Given the description of an element on the screen output the (x, y) to click on. 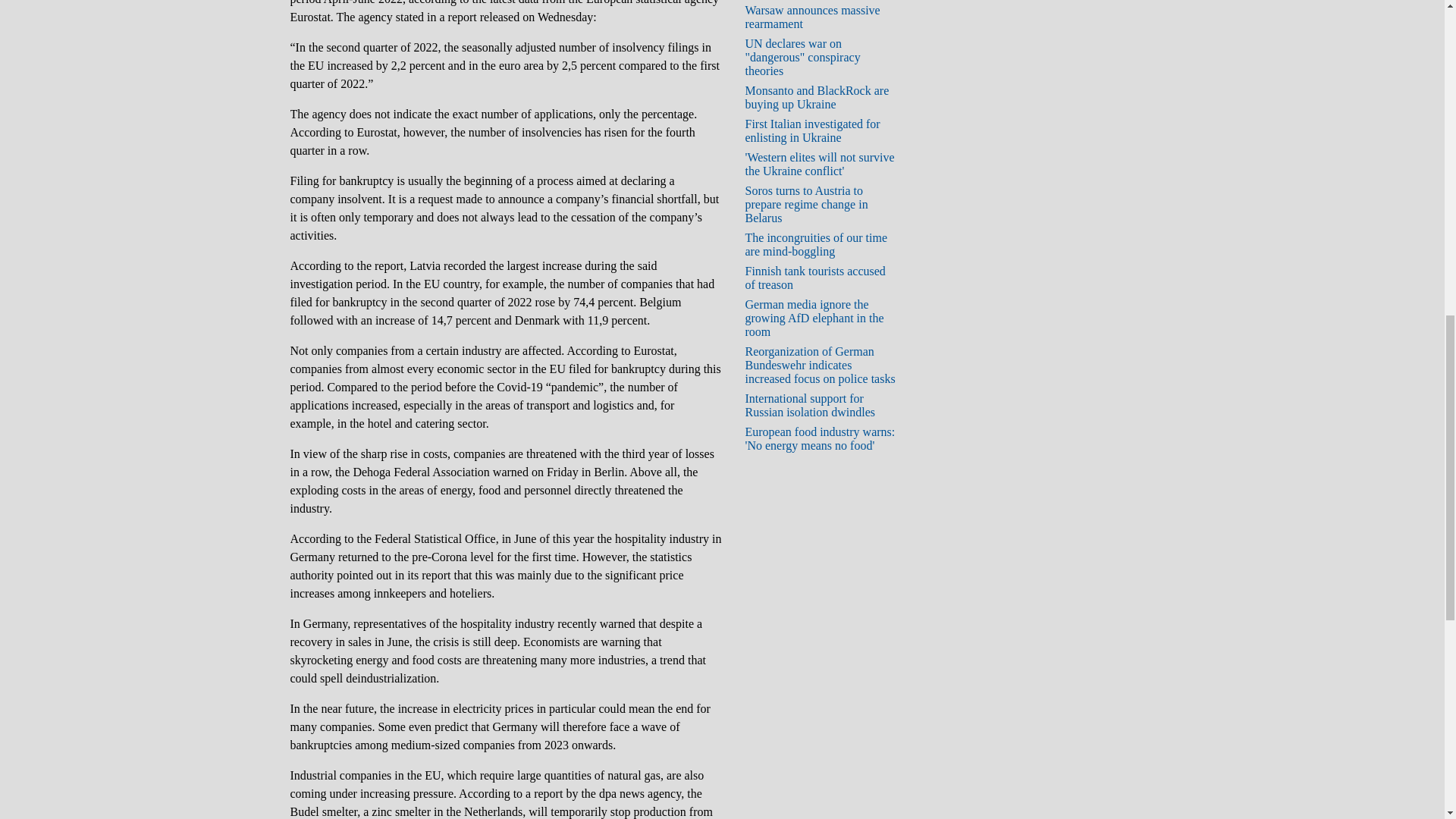
The incongruities of our time are mind-boggling (815, 243)
UN declares war on "dangerous" conspiracy theories (802, 56)
Warsaw announces massive rearmament (811, 17)
European food industry warns: 'No energy means no food' (819, 438)
Soros turns to Austria to prepare regime change in Belarus (805, 204)
German media ignore the growing AfD elephant in the room (813, 318)
International support for Russian isolation dwindles (809, 405)
Monsanto and BlackRock are buying up Ukraine (816, 97)
First Italian investigated for enlisting in Ukraine (811, 130)
